Given the description of an element on the screen output the (x, y) to click on. 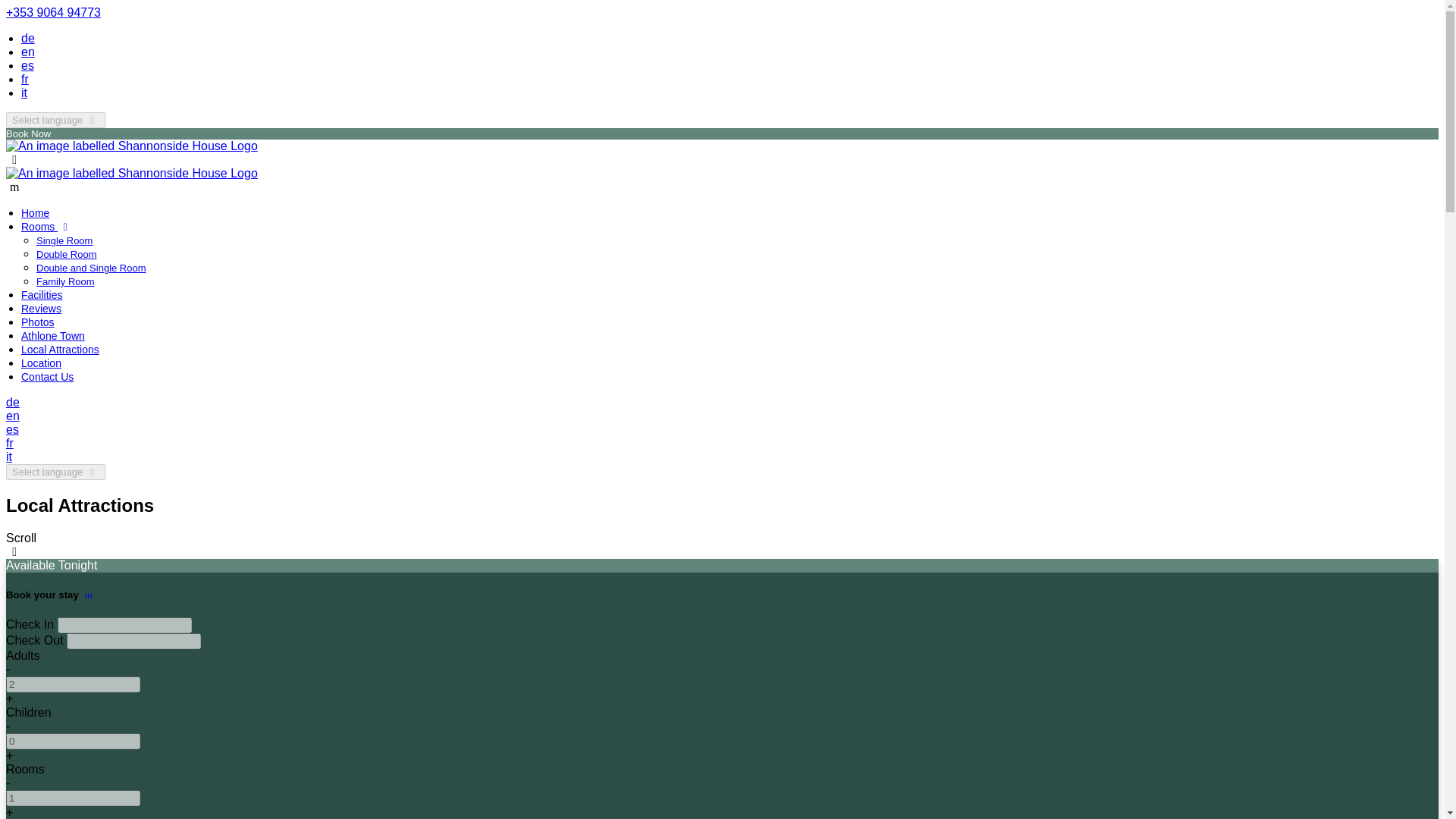
Family Room (65, 281)
Photos (38, 322)
Reviews (41, 308)
Single Room (64, 240)
Double and Single Room (91, 267)
Double Room (66, 254)
en (12, 415)
Athlone Town (52, 336)
en (27, 51)
Local Attractions (60, 349)
